Given the description of an element on the screen output the (x, y) to click on. 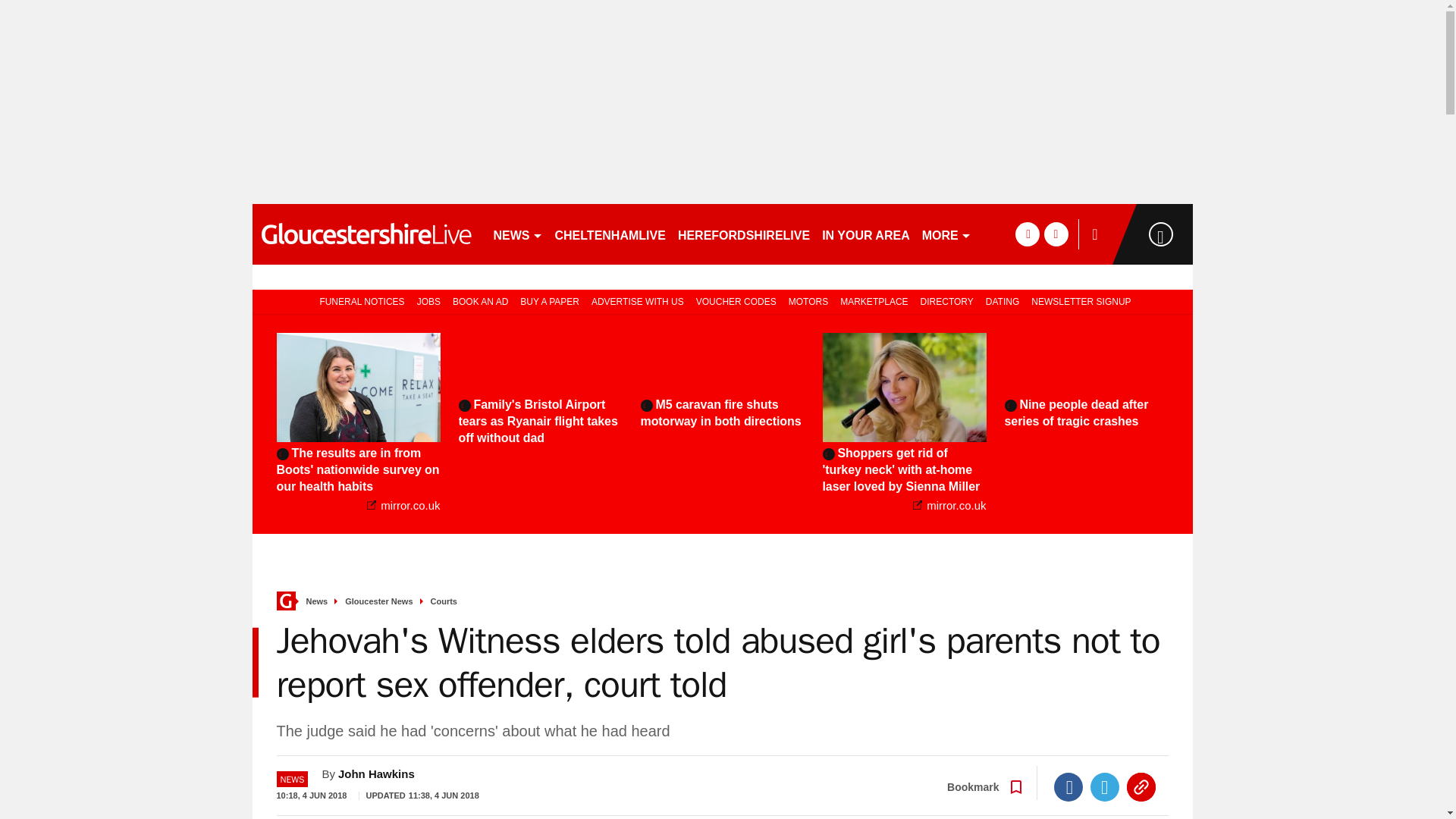
MORE (945, 233)
gloucestershirelive (365, 233)
HEREFORDSHIRELIVE (743, 233)
CHELTENHAMLIVE (609, 233)
twitter (1055, 233)
Facebook (1068, 787)
IN YOUR AREA (865, 233)
facebook (1026, 233)
NEWS (517, 233)
Twitter (1104, 787)
